Given the description of an element on the screen output the (x, y) to click on. 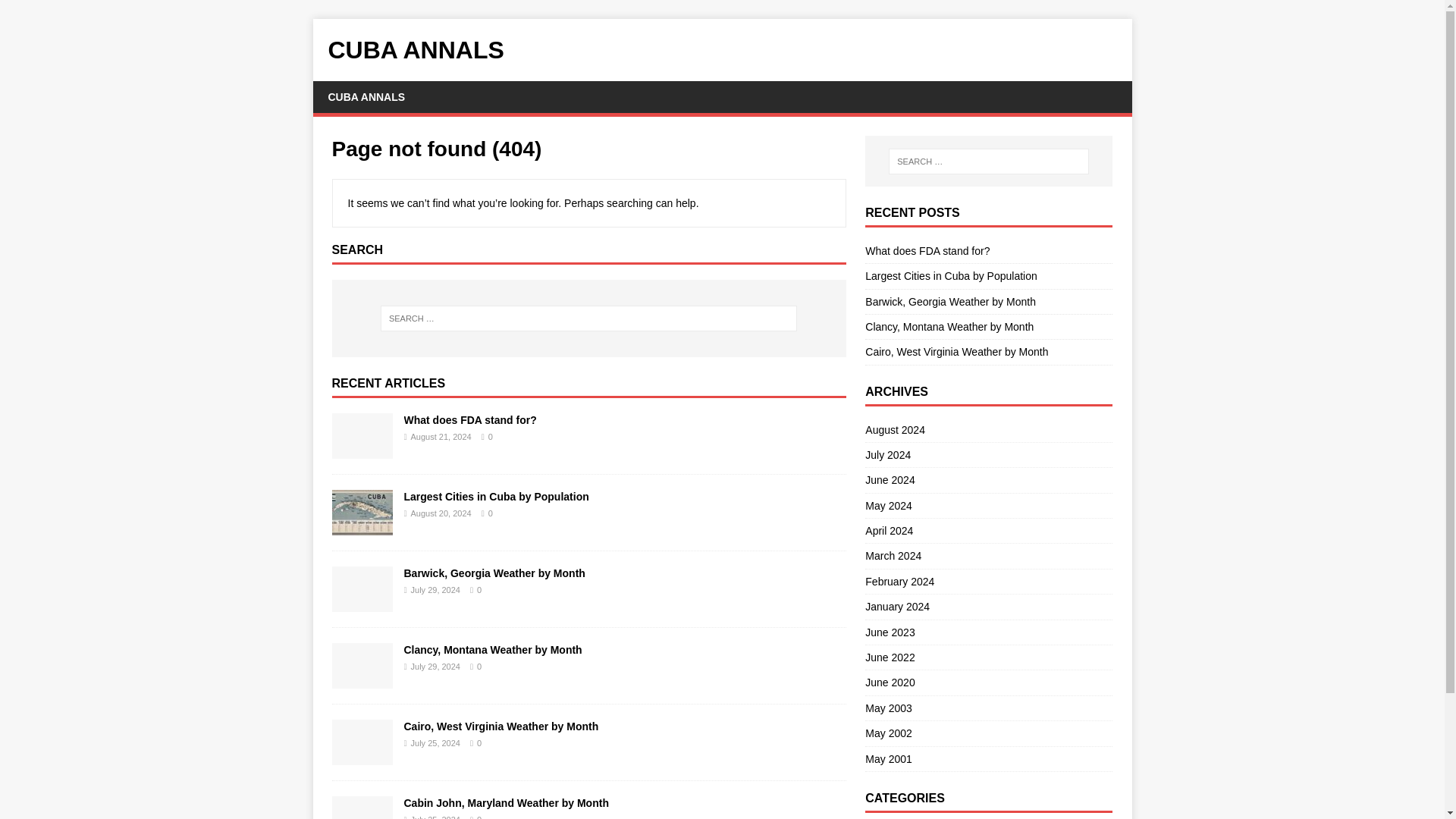
May 2024 (988, 505)
What does FDA stand for? (362, 449)
Cuba Annals (721, 49)
What does FDA stand for? (469, 419)
Cairo, West Virginia Weather by Month (500, 726)
Cairo, West Virginia Weather by Month (362, 756)
Clancy, Montana Weather by Month (948, 326)
January 2024 (988, 606)
Largest Cities in Cuba by Population (495, 496)
June 2020 (988, 682)
